Given the description of an element on the screen output the (x, y) to click on. 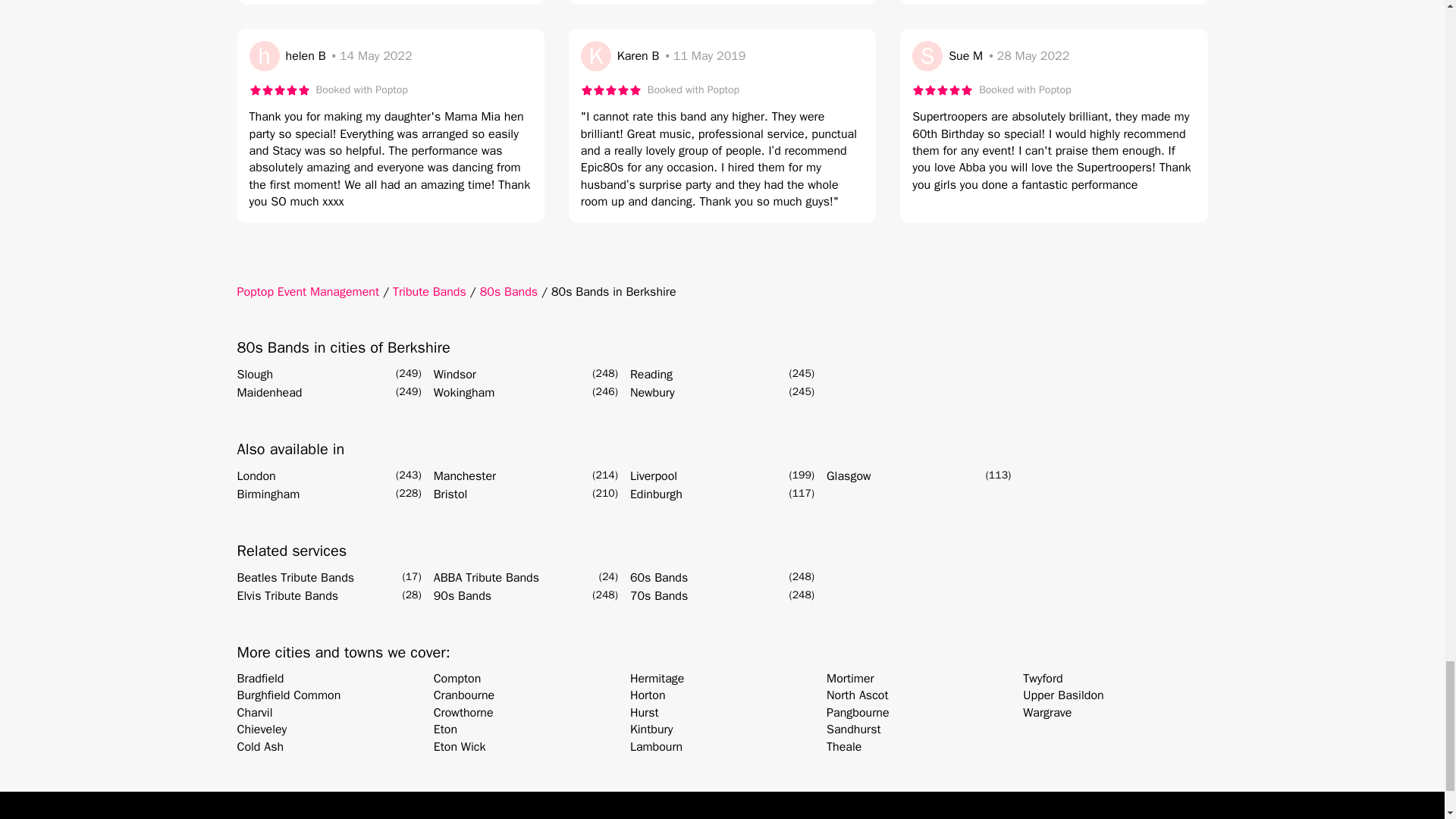
Reading (651, 374)
Bristol (450, 494)
Tribute Bands (429, 291)
London (255, 475)
Windsor (454, 374)
Birmingham (267, 494)
Edinburgh (656, 494)
Newbury (652, 393)
Glasgow (848, 475)
Liverpool (653, 475)
Poptop Event Management (306, 291)
80s Bands (508, 291)
Manchester (464, 475)
Wokingham (464, 393)
Maidenhead (268, 393)
